Given the description of an element on the screen output the (x, y) to click on. 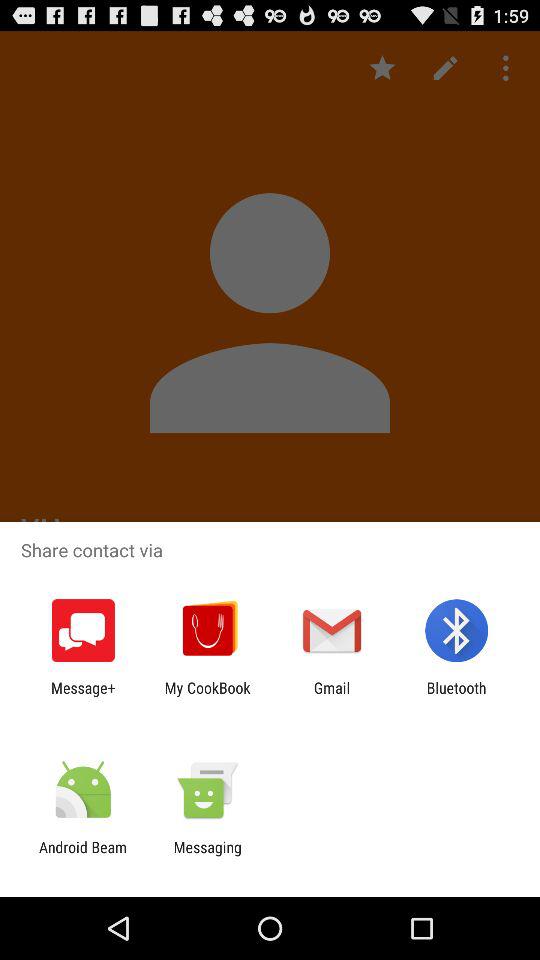
tap message+ (83, 696)
